Given the description of an element on the screen output the (x, y) to click on. 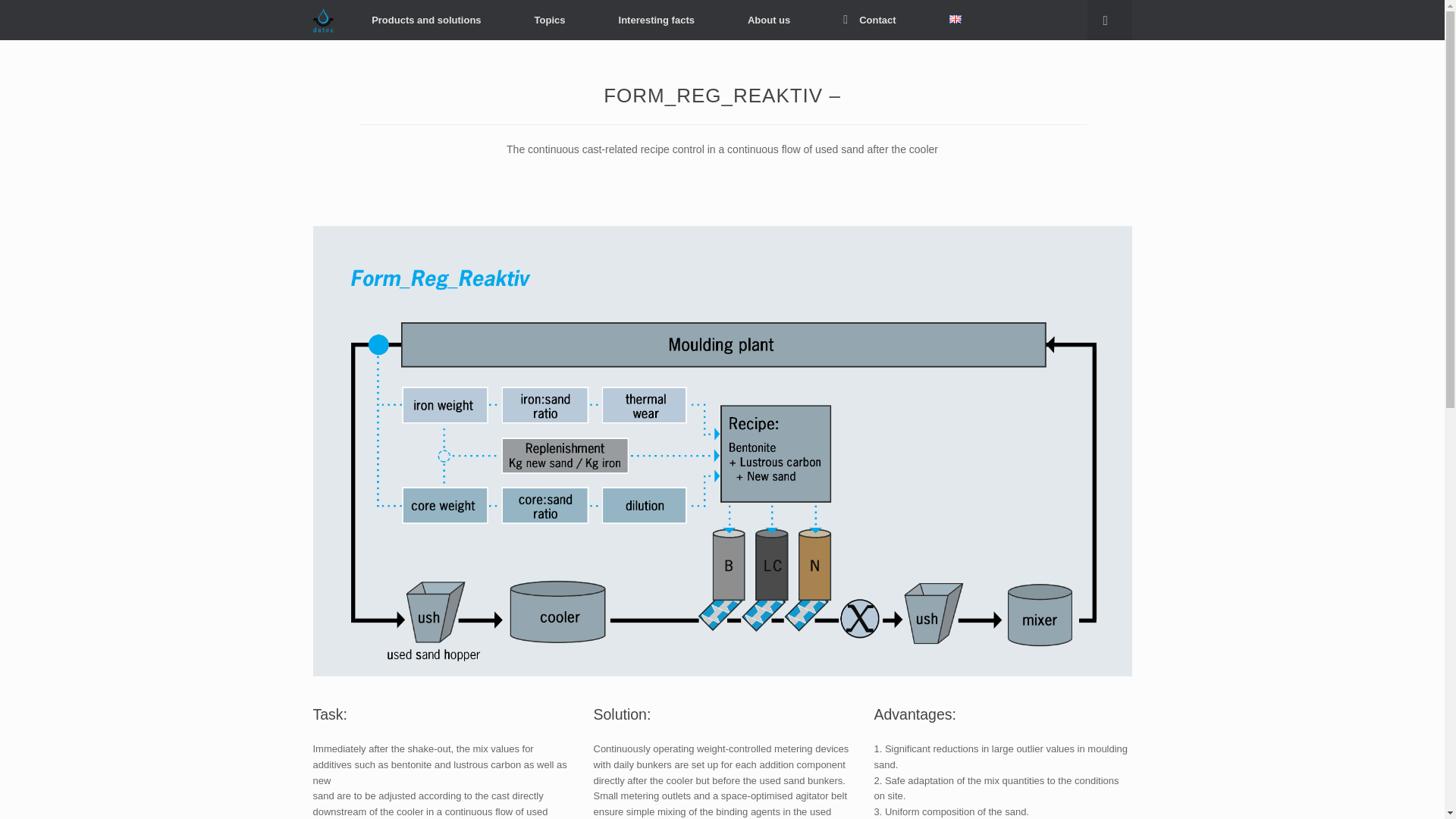
Topics (550, 20)
Products and solutions (425, 20)
